Given the description of an element on the screen output the (x, y) to click on. 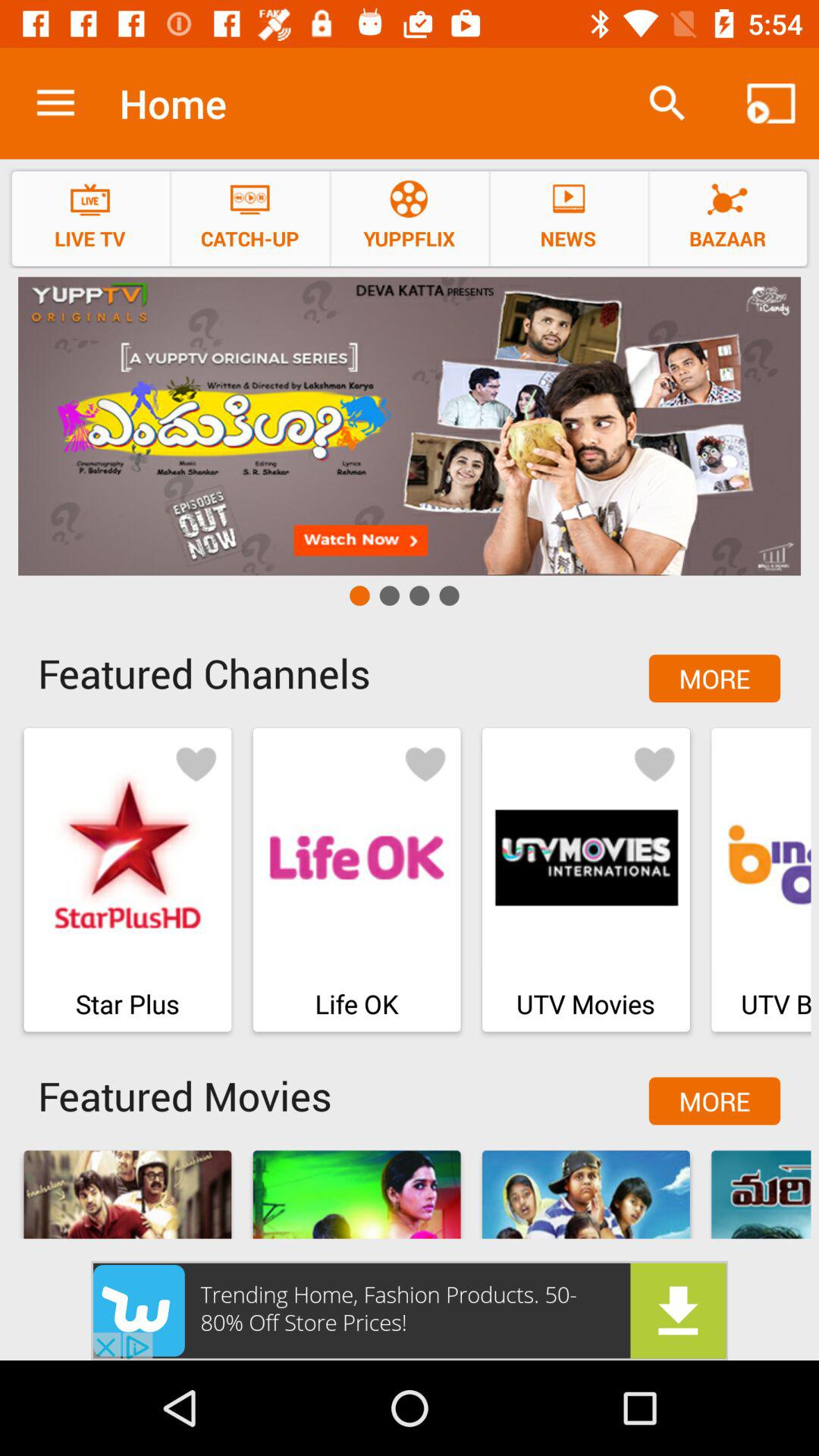
add the option (409, 1310)
